Given the description of an element on the screen output the (x, y) to click on. 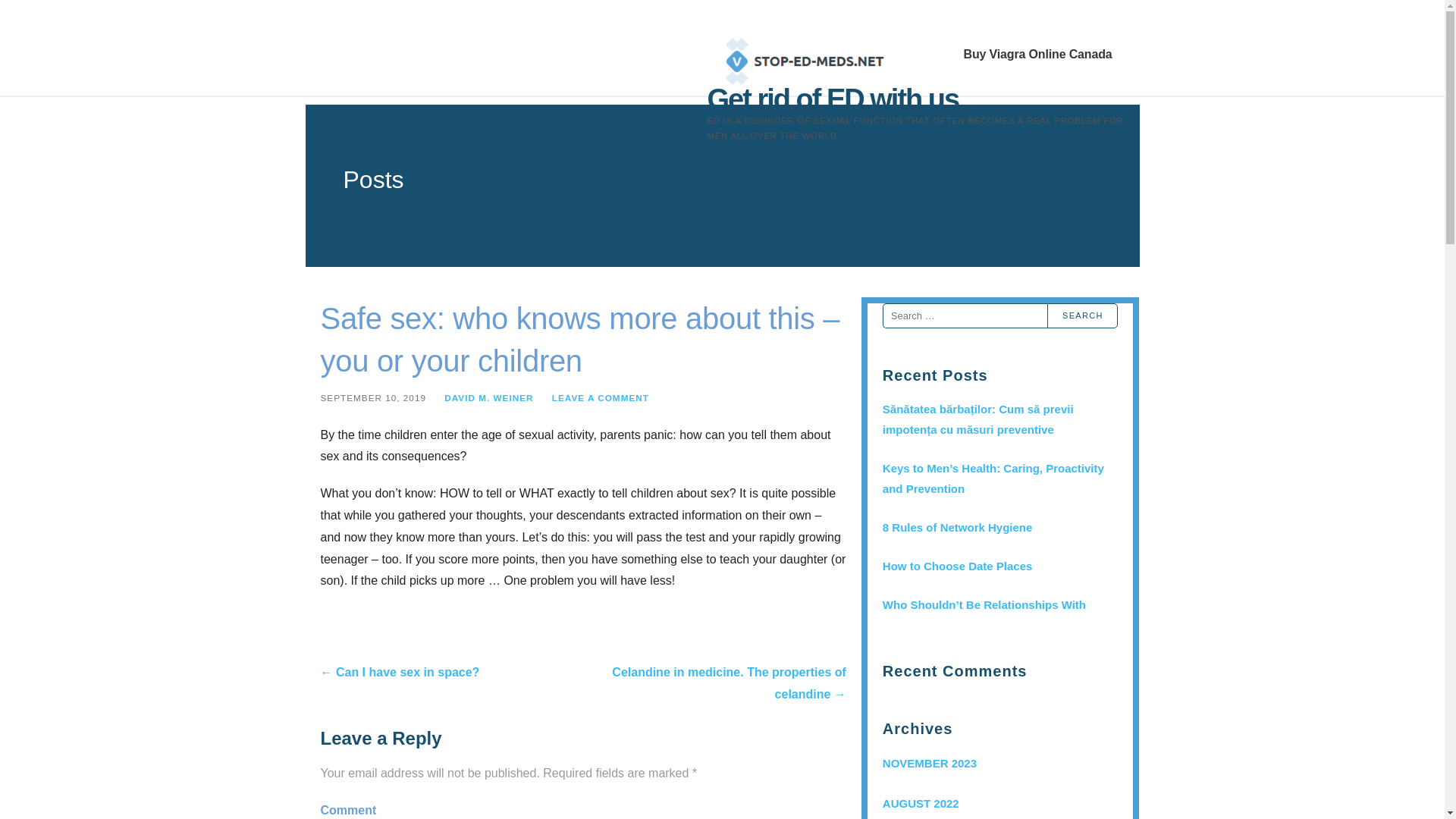
Buy Viagra Online Canada (1037, 55)
How to Choose Date Places (1000, 566)
LEAVE A COMMENT (600, 397)
Search (1082, 315)
Search (1082, 315)
NOVEMBER 2023 (1000, 762)
Posts by David M. Weiner (488, 397)
Search (1082, 315)
DAVID M. WEINER (488, 397)
